Given the description of an element on the screen output the (x, y) to click on. 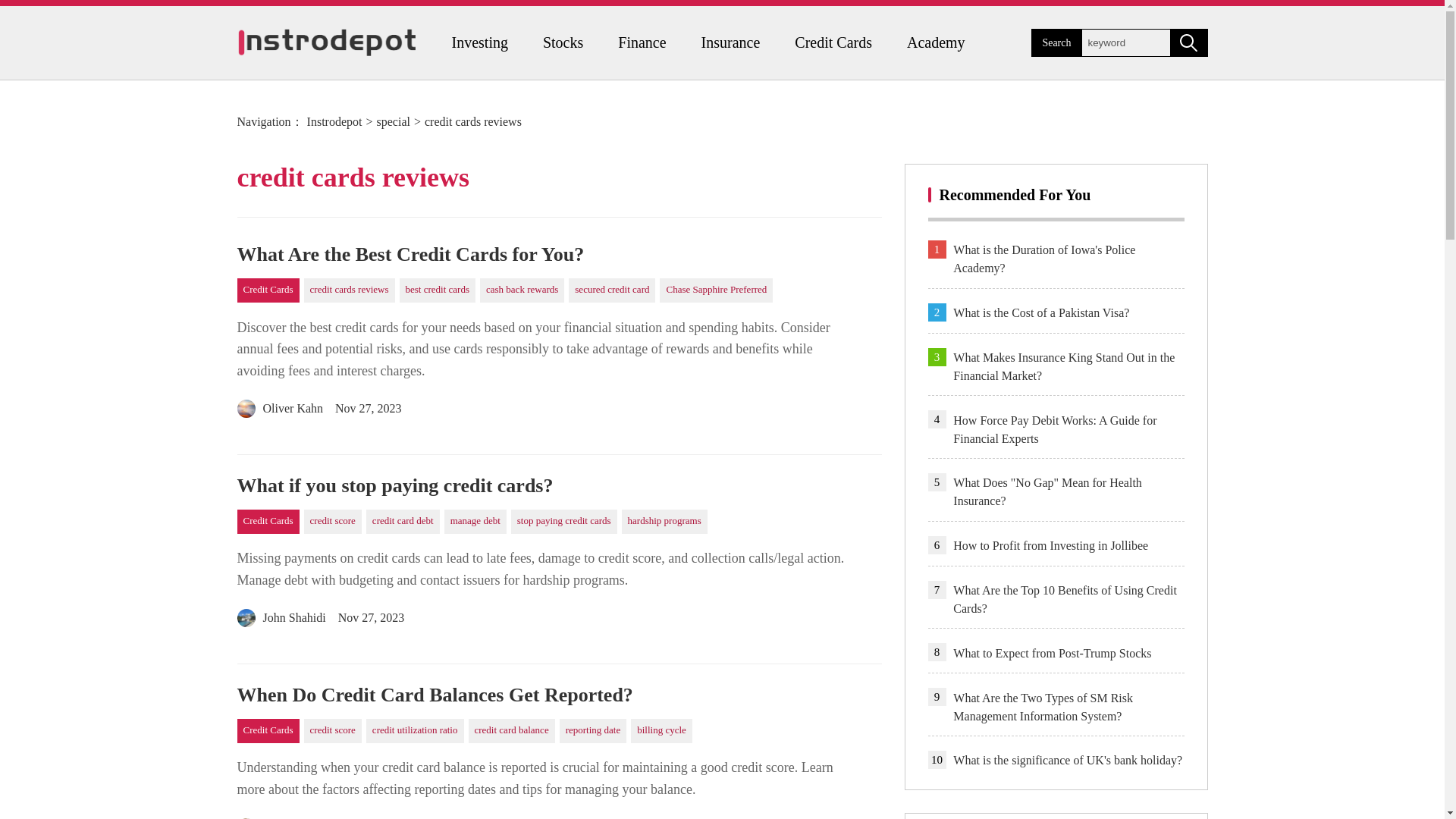
Finance (641, 42)
Investing (479, 42)
credit cards reviews (349, 290)
credit card debt (402, 521)
Academy (935, 42)
best credit cards (437, 290)
hardship programs (664, 521)
manage debt (475, 521)
credit score (332, 730)
When Do Credit Card Balances Get Reported? (557, 694)
What Are the Best Credit Cards for You? (557, 254)
Credit Cards (266, 730)
keyword (1125, 42)
hardship programs (664, 521)
Chase Sapphire Preferred (716, 290)
